Given the description of an element on the screen output the (x, y) to click on. 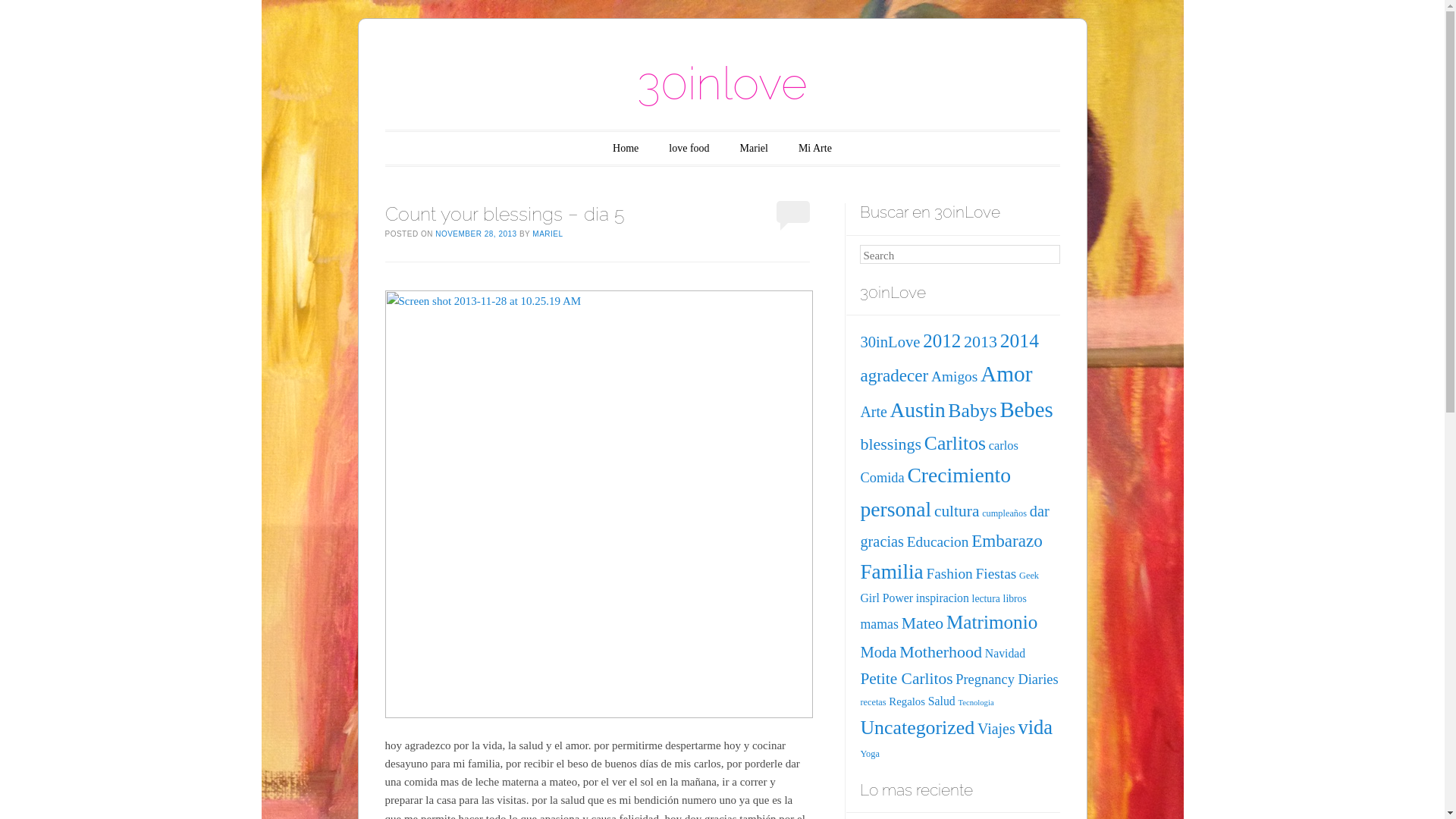
Navidad Element type: text (1005, 652)
Amigos Element type: text (954, 376)
2013 Element type: text (980, 341)
recetas Element type: text (872, 701)
Babys Element type: text (971, 410)
dar gracias Element type: text (953, 525)
Mateo Element type: text (922, 623)
Girl Power Element type: text (886, 597)
Salud Element type: text (941, 700)
agradecer Element type: text (893, 375)
Viajes Element type: text (996, 728)
Crecimiento personal Element type: text (934, 491)
lectura Element type: text (986, 598)
mamas Element type: text (878, 623)
Pregnancy Diaries Element type: text (1006, 679)
Mi Arte Element type: text (814, 148)
2014 Element type: text (1019, 340)
libros Element type: text (1014, 598)
30inLove Element type: text (889, 341)
Amor Element type: text (1006, 373)
Moda Element type: text (877, 651)
carlos Element type: text (1003, 445)
Familia Element type: text (890, 571)
Matrimonio Element type: text (991, 621)
Austin Element type: text (917, 409)
Tecnologia Element type: text (975, 702)
Arte Element type: text (872, 411)
2012 Element type: text (941, 340)
Yoga Element type: text (868, 753)
Uncategorized Element type: text (916, 727)
Comida Element type: text (881, 477)
inspiracion Element type: text (942, 597)
Skip to content Element type: text (434, 148)
Fashion Element type: text (948, 573)
Search Element type: text (32, 13)
Embarazo Element type: text (1006, 540)
Mariel Element type: text (753, 148)
MARIEL Element type: text (547, 233)
Educacion Element type: text (937, 541)
30inlove Element type: text (722, 82)
Geek Element type: text (1028, 575)
Regalos Element type: text (906, 701)
Home Element type: text (625, 148)
vida Element type: text (1034, 726)
NOVEMBER 28, 2013 Element type: text (475, 233)
Fiestas Element type: text (995, 573)
Carlitos Element type: text (954, 443)
blessings Element type: text (890, 443)
cultura Element type: text (956, 511)
Petite Carlitos Element type: text (905, 678)
love food Element type: text (688, 148)
Bebes Element type: text (1025, 409)
Motherhood Element type: text (940, 651)
